Given the description of an element on the screen output the (x, y) to click on. 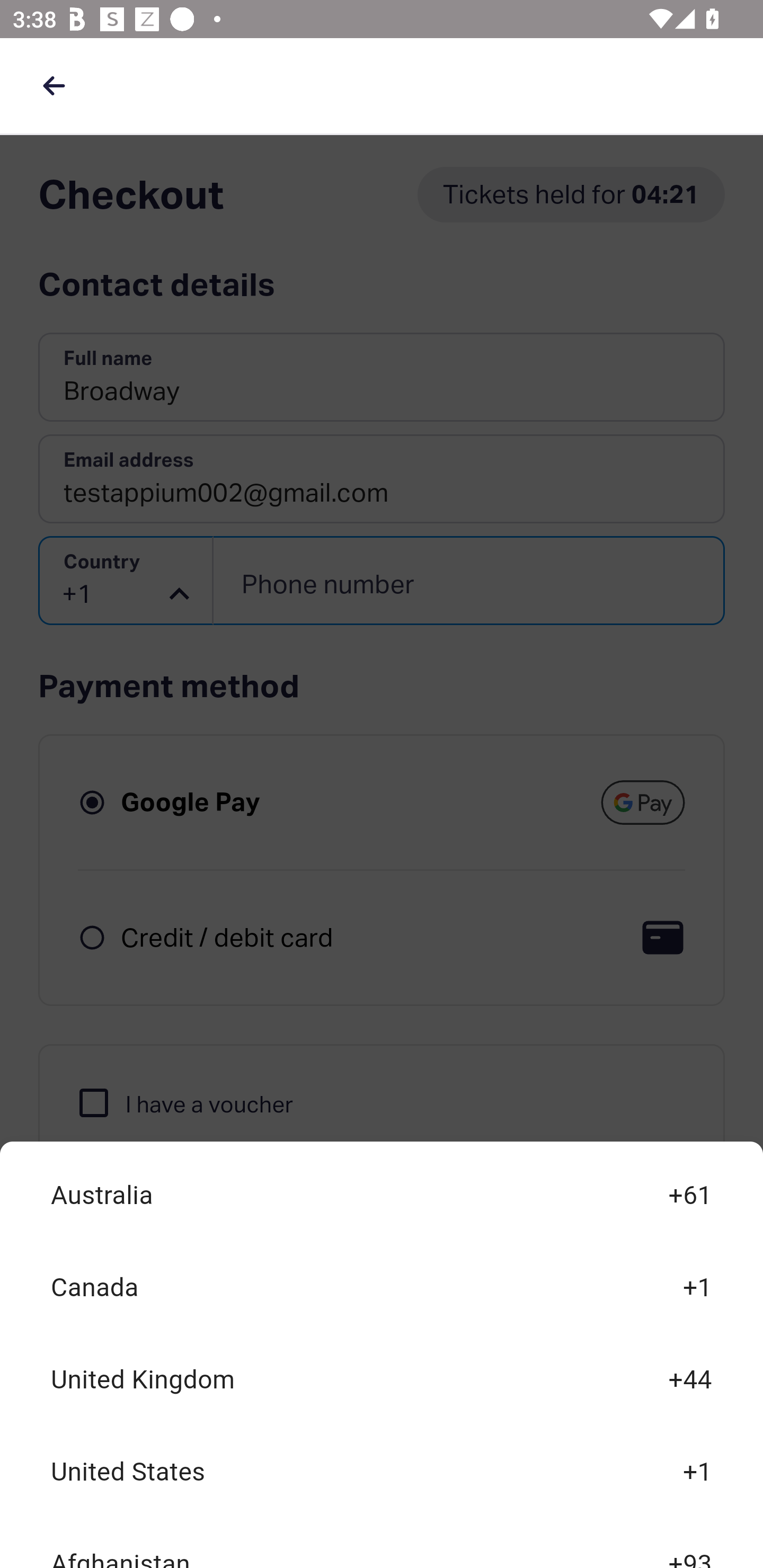
back button (53, 85)
Australia +61 (381, 1196)
Canada +1 (381, 1287)
United Kingdom +44 (381, 1379)
United States +1 (381, 1472)
